Given the description of an element on the screen output the (x, y) to click on. 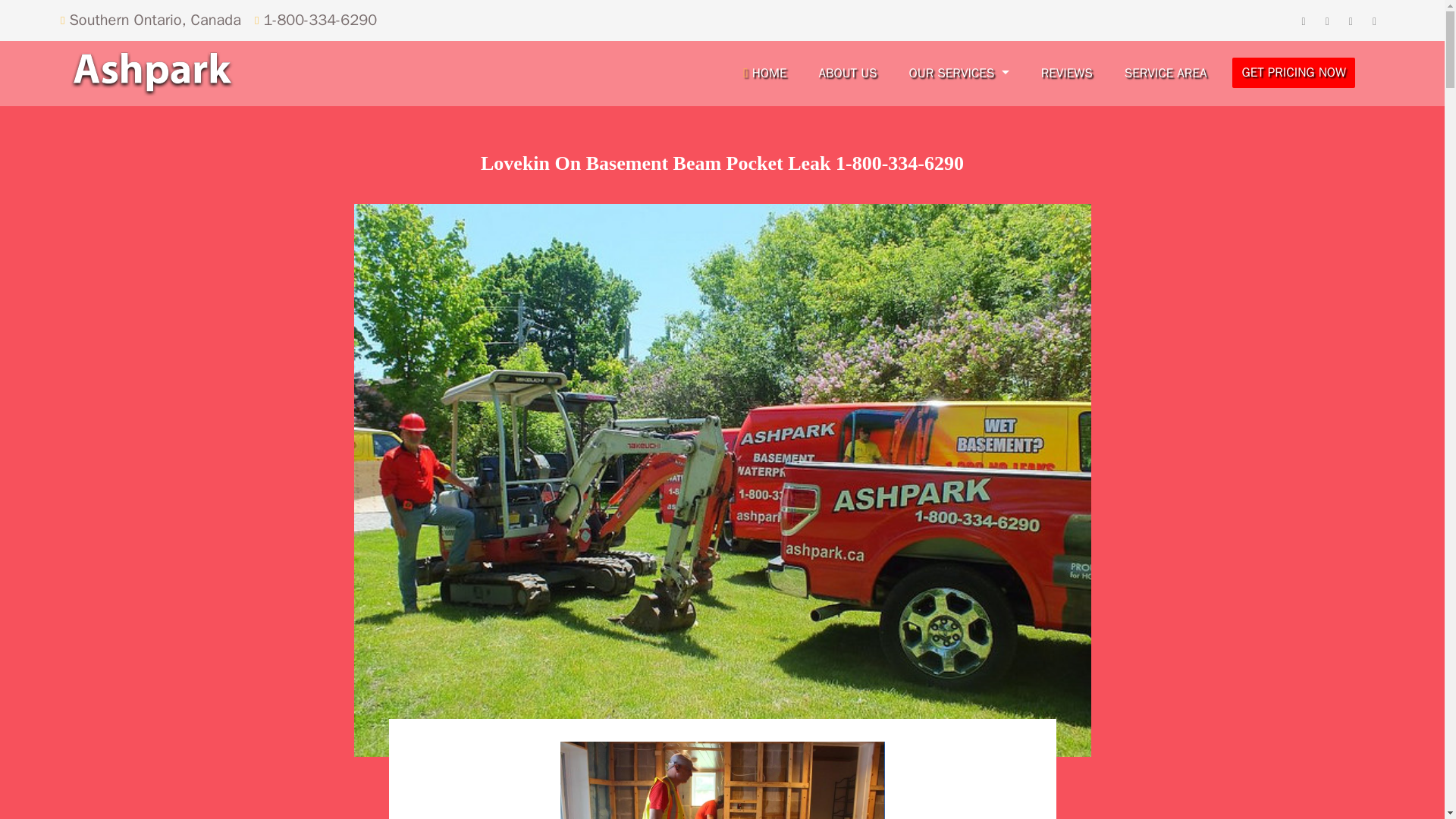
GET PRICING NOW (1293, 72)
HOME (764, 73)
SERVICE AREA (1165, 73)
ABOUT US (847, 73)
REVIEWS (1067, 73)
OUR SERVICES (958, 73)
